Given the description of an element on the screen output the (x, y) to click on. 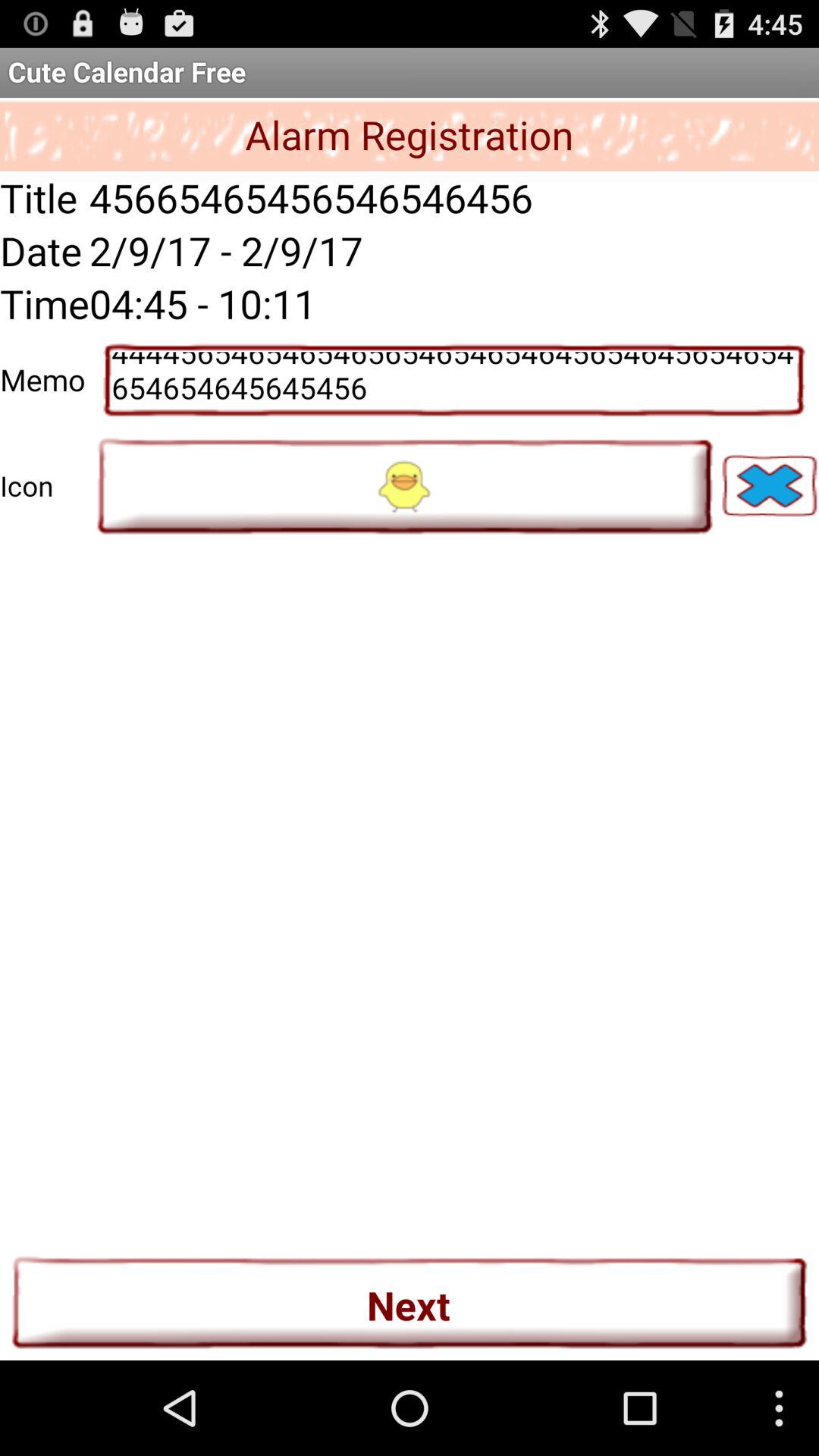
erase icon (769, 485)
